Given the description of an element on the screen output the (x, y) to click on. 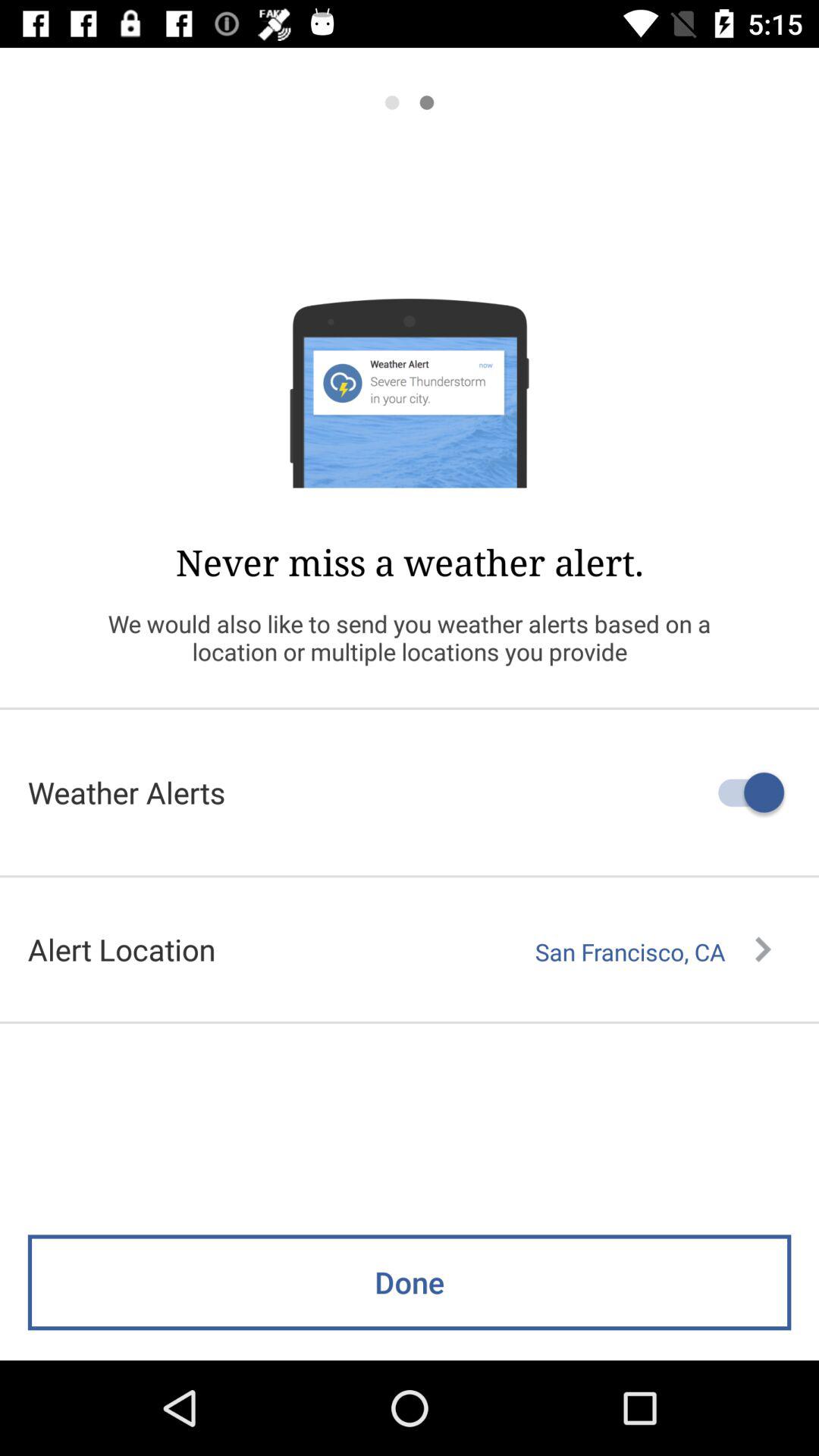
open item to the right of the alert location (653, 951)
